Given the description of an element on the screen output the (x, y) to click on. 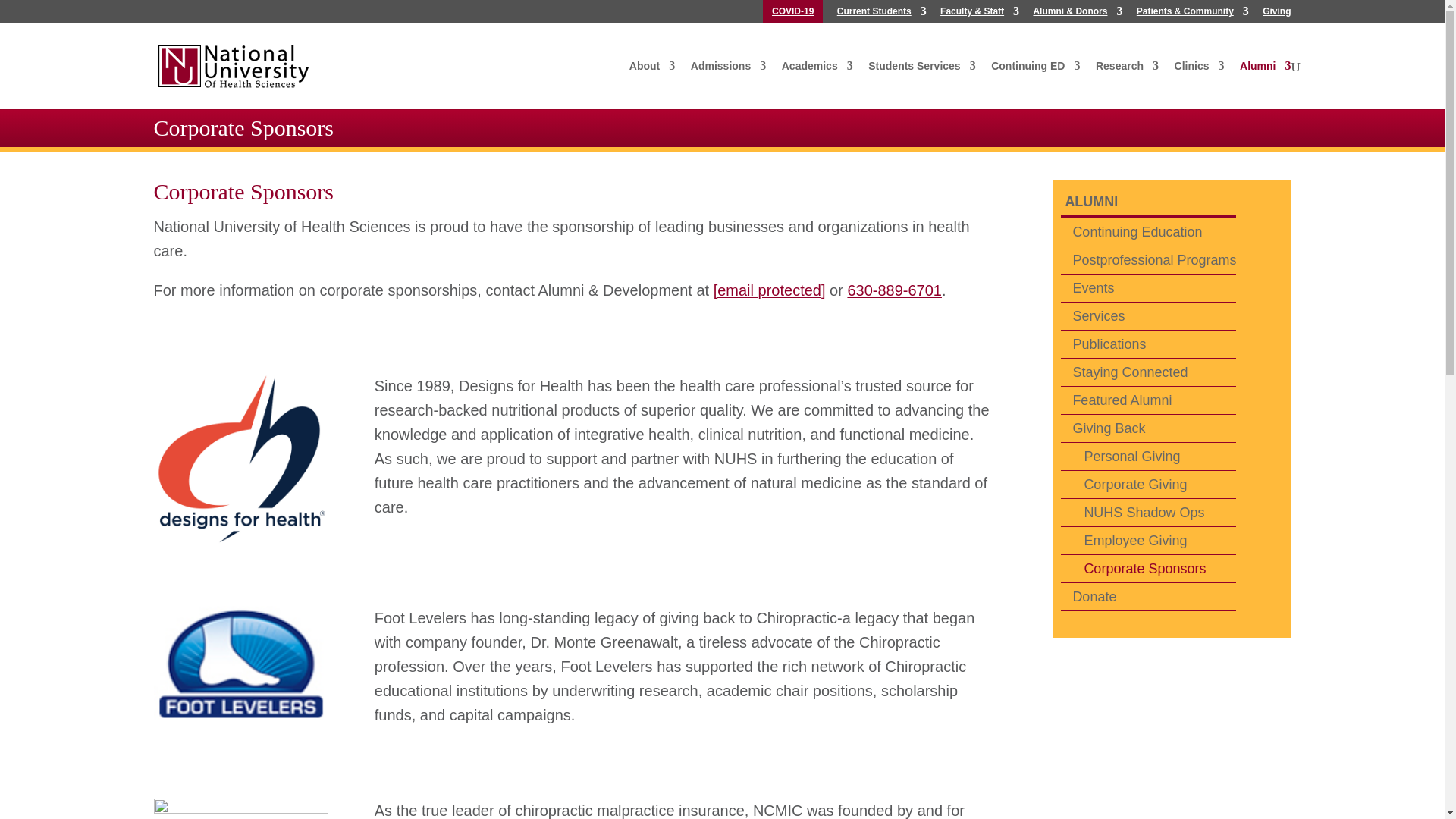
logo-ncmic (240, 808)
dfh-logo-orange (240, 461)
Giving (1276, 14)
Current Students (881, 14)
About (651, 73)
COVID-19 (792, 14)
